Given the description of an element on the screen output the (x, y) to click on. 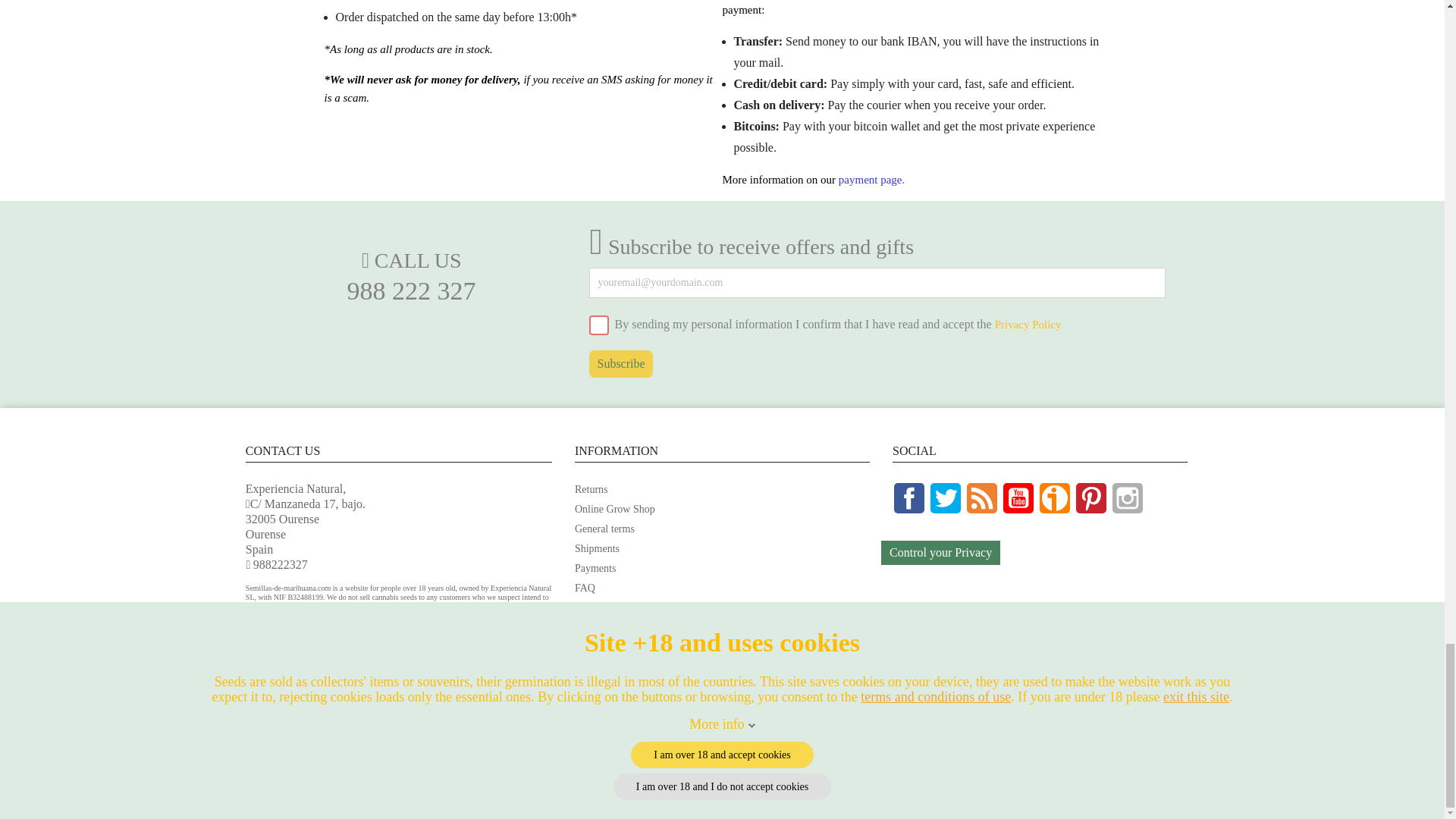
Subscribe (620, 363)
